Given the description of an element on the screen output the (x, y) to click on. 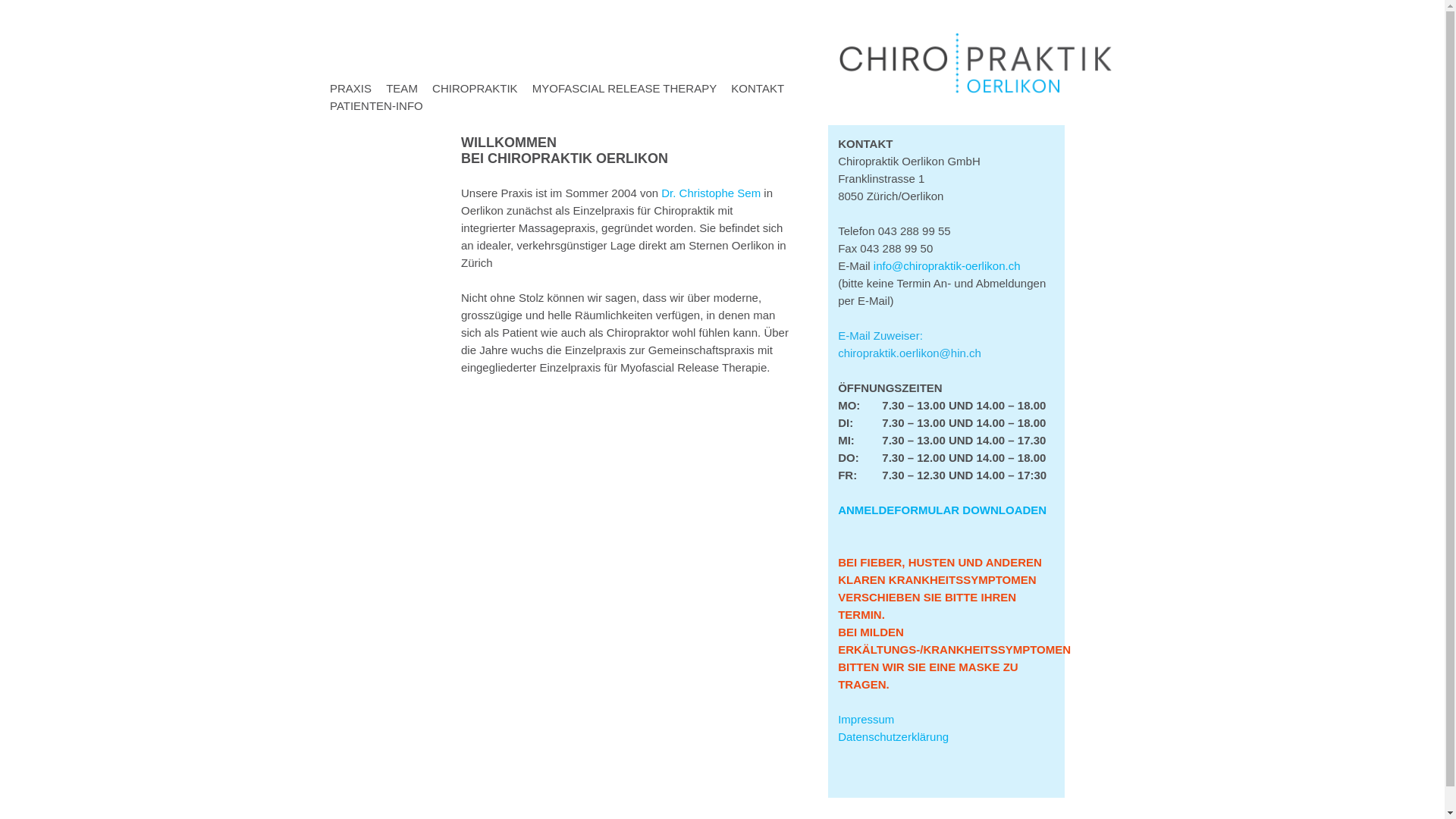
MYOFASCIAL RELEASE THERAPY Element type: text (624, 87)
ANMELDEFORMULAR DOWNLOADEN Element type: text (941, 509)
PATIENTEN-INFO Element type: text (376, 105)
TEAM Element type: text (401, 87)
PRAXIS Element type: text (350, 87)
KONTAKT Element type: text (757, 87)
info@chiropraktik-oerlikon.ch Element type: text (946, 265)
Impressum Element type: text (865, 727)
Dr. Christophe Sem Element type: text (710, 192)
  Element type: text (949, 736)
CHIROPRAKTIK Element type: text (474, 87)
